Given the description of an element on the screen output the (x, y) to click on. 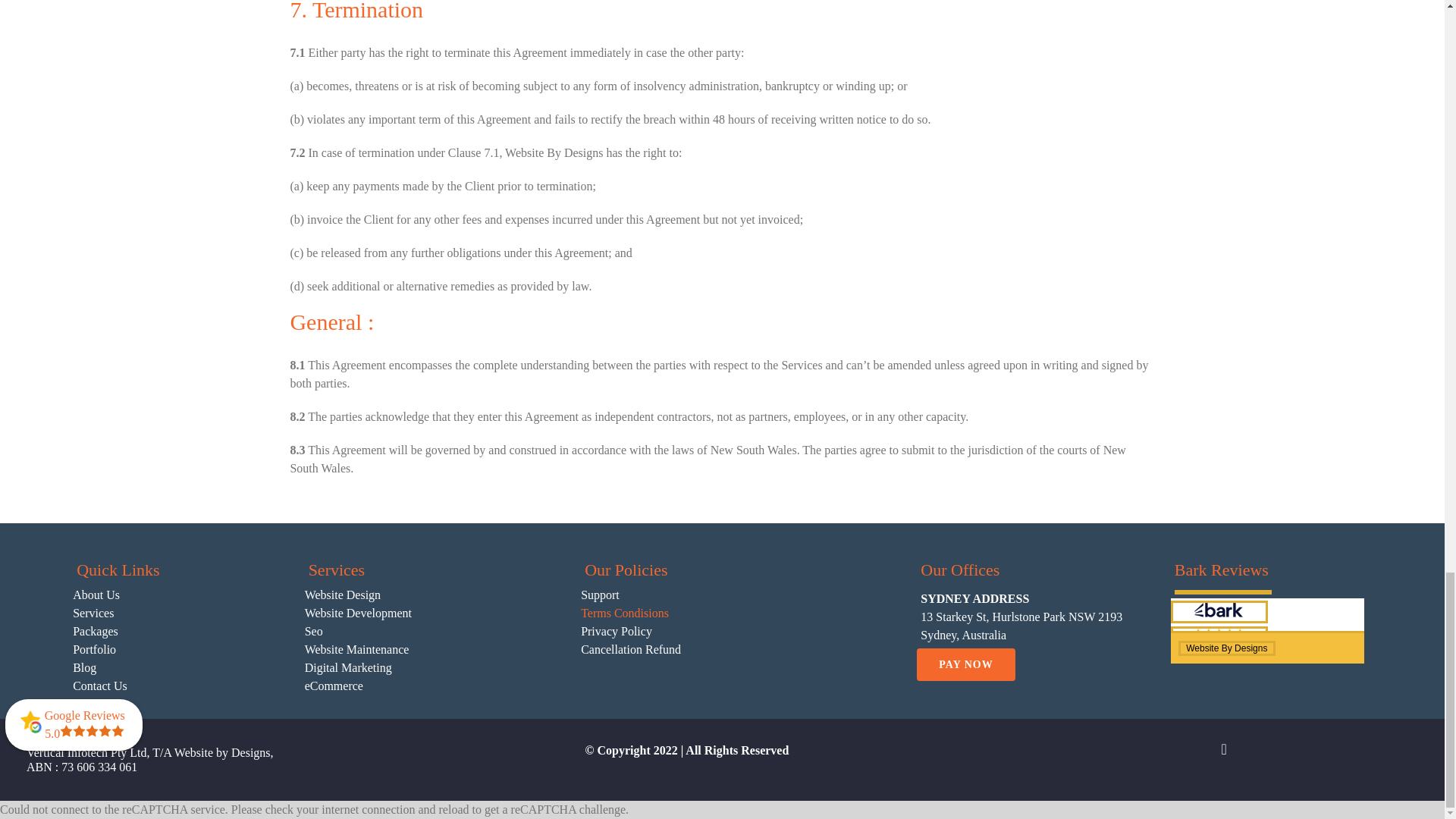
Website By Designs has 7 reviews on Bark.com (1222, 591)
Website By Designs has 7 reviews on Bark.com (1219, 611)
Website By Designs has 7 reviews on Bark.com (1226, 648)
Website By Designs has 7 reviews on Bark.com (1219, 637)
